Given the description of an element on the screen output the (x, y) to click on. 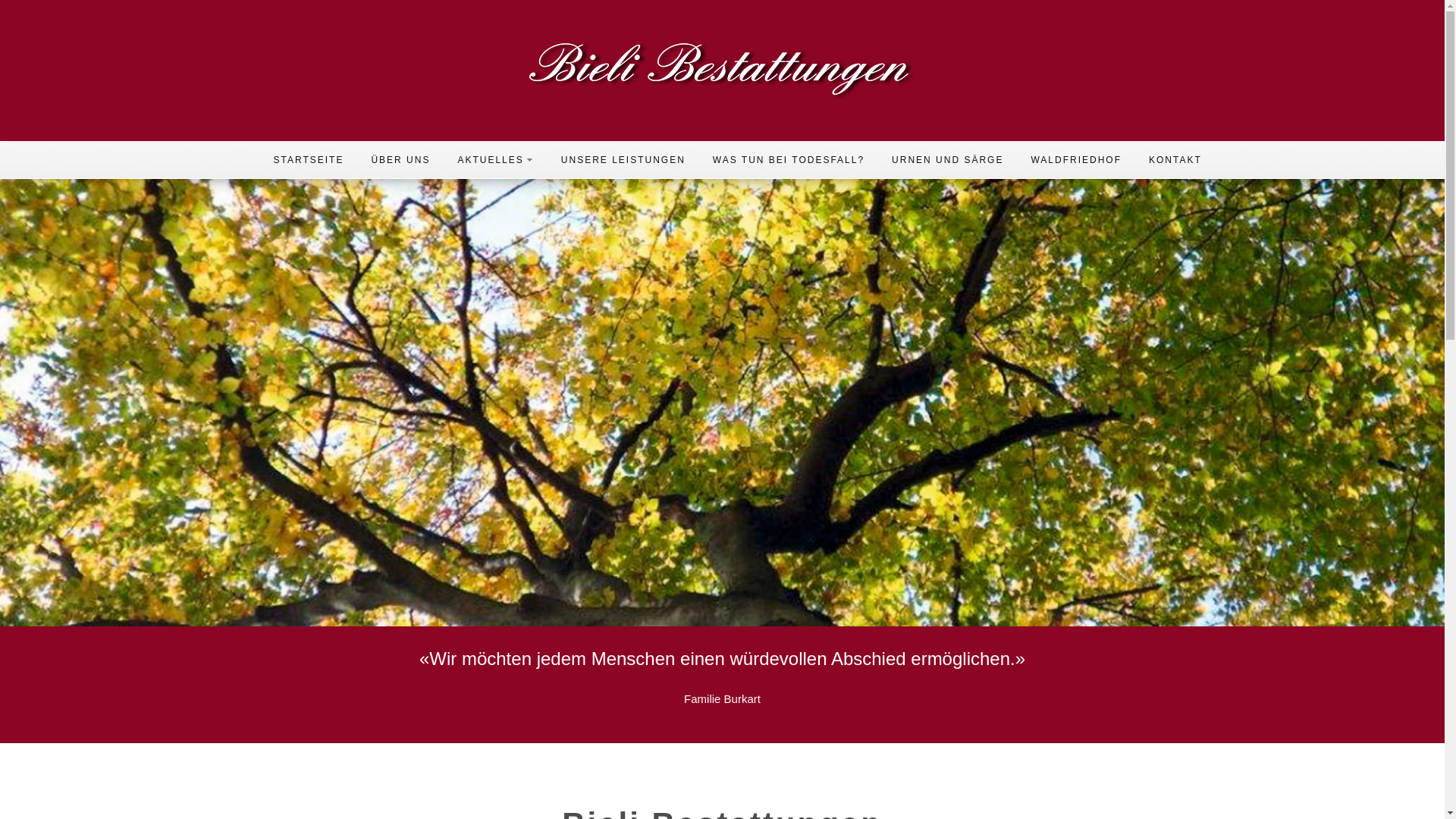
WAS TUN BEI TODESFALL? Element type: text (788, 159)
UNSERE LEISTUNGEN Element type: text (623, 159)
WALDFRIEDHOF Element type: text (1075, 159)
AKTUELLES Element type: text (494, 159)
STARTSEITE Element type: text (308, 159)
KONTAKT Element type: text (1175, 159)
